Given the description of an element on the screen output the (x, y) to click on. 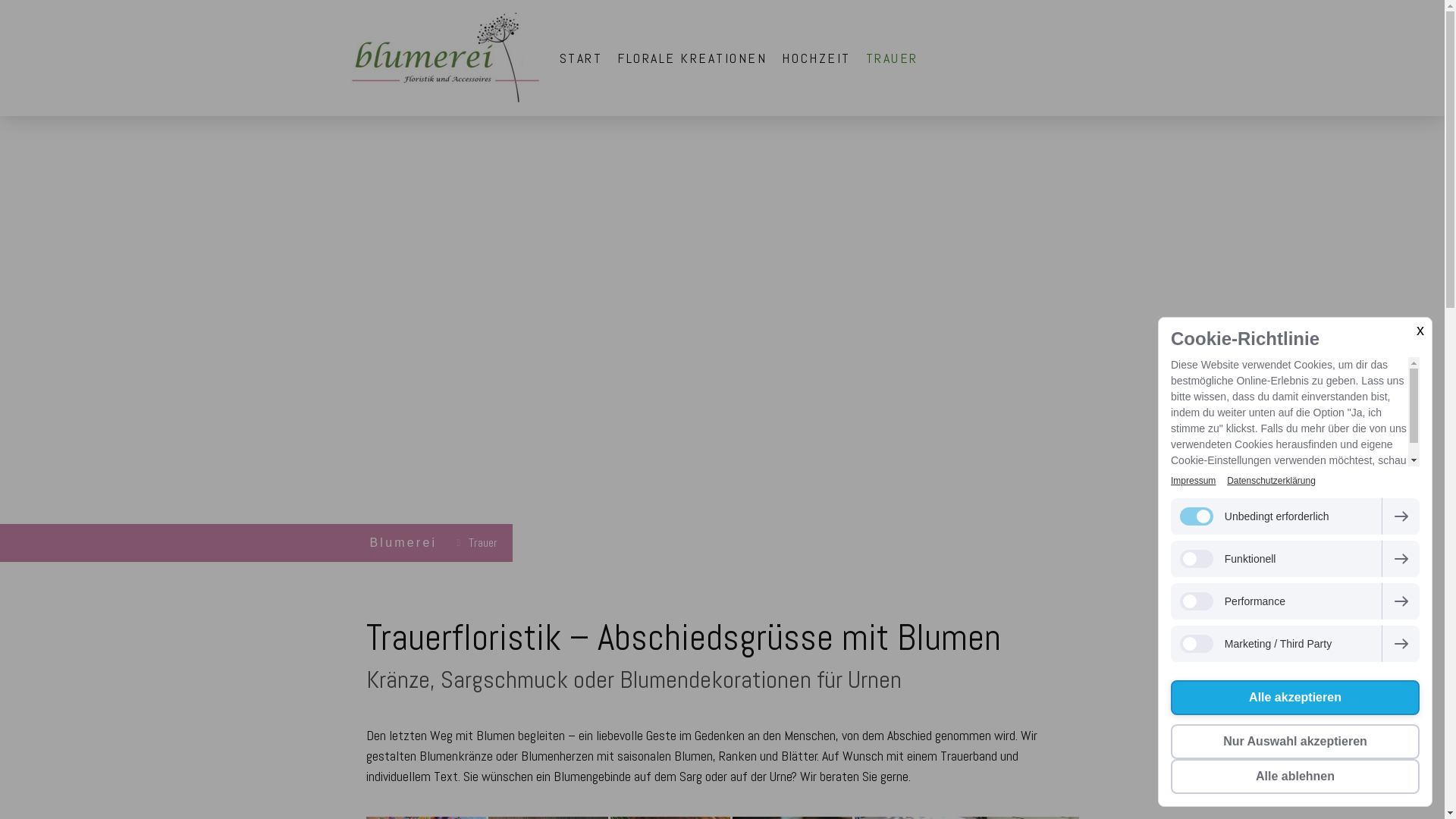
TRAUER Element type: text (891, 57)
FLORALE KREATIONEN Element type: text (691, 57)
HOCHZEIT Element type: text (815, 57)
Trauer Element type: text (478, 542)
Nur Auswahl akzeptieren Element type: text (1294, 741)
Alle ablehnen Element type: text (1294, 776)
Blumerei Element type: text (404, 542)
Alle akzeptieren Element type: text (1294, 697)
Impressum Element type: text (1192, 480)
START Element type: text (581, 57)
